Given the description of an element on the screen output the (x, y) to click on. 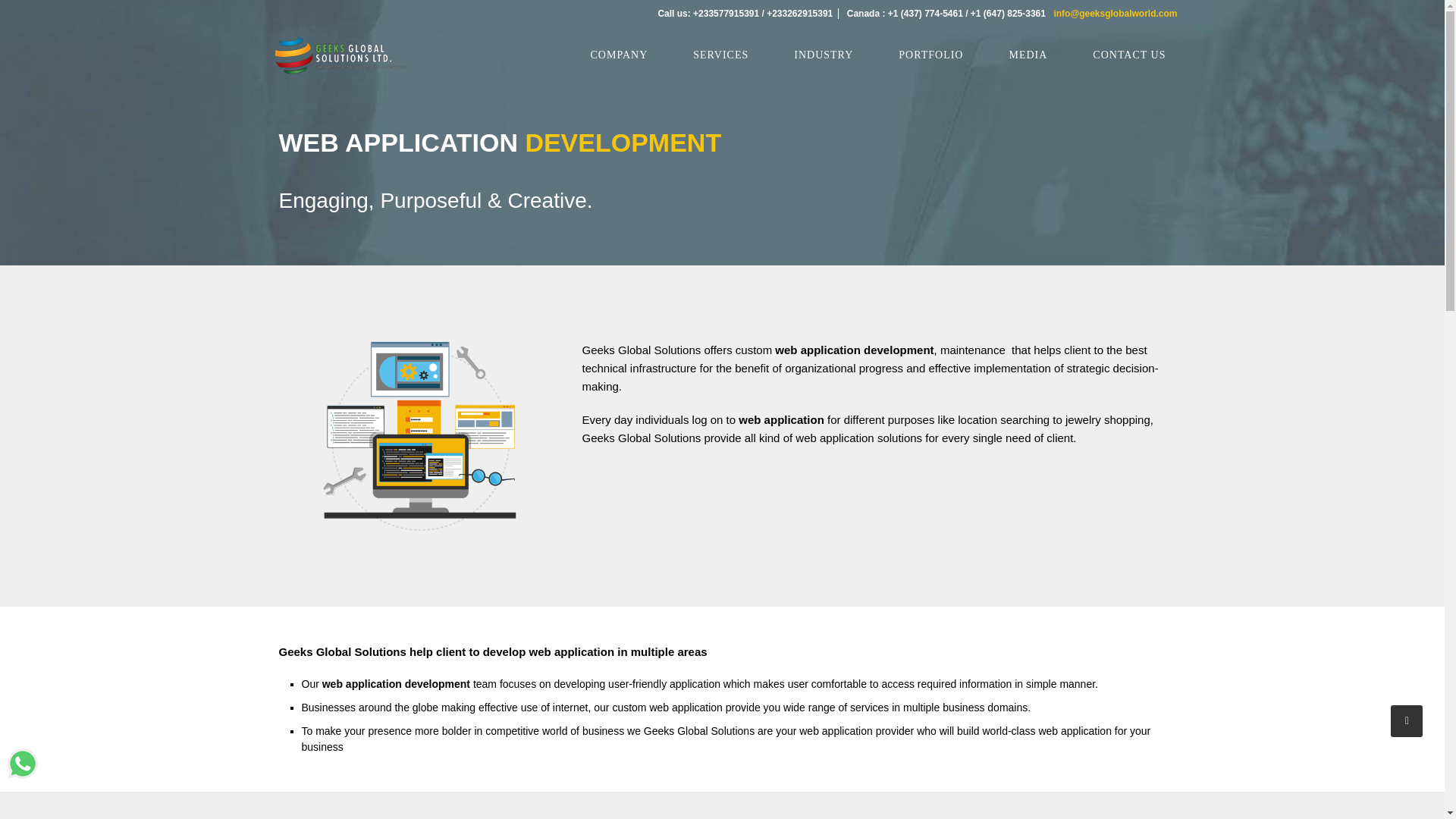
SERVICES (720, 55)
COMPANY (619, 55)
